Given the description of an element on the screen output the (x, y) to click on. 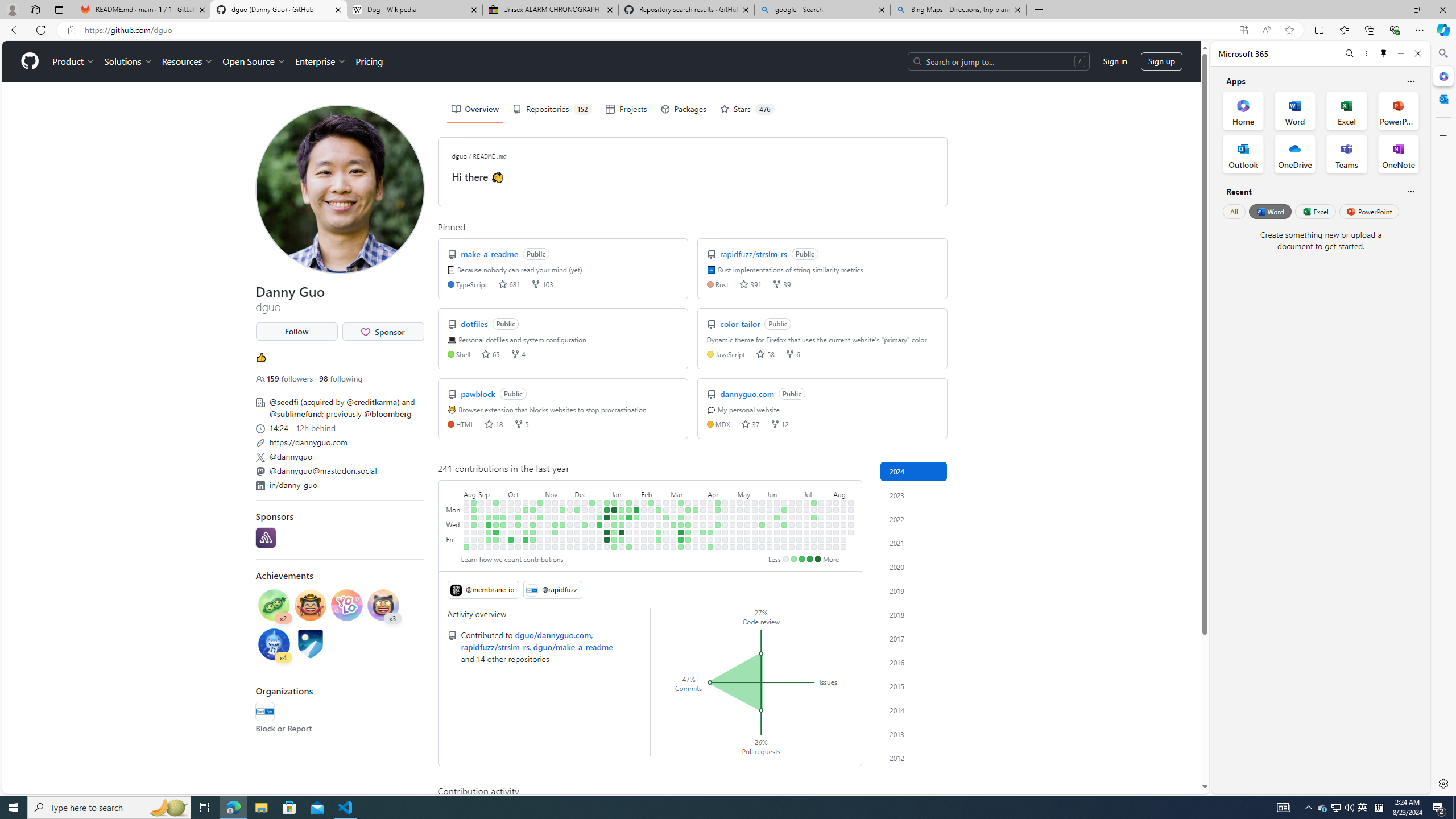
No contributions on July 6th. (799, 546)
No contributions on April 9th. (710, 517)
Learn how we count contributions (511, 558)
1 contribution on January 10th. (614, 524)
No contributions on February 5th. (643, 509)
No contributions on June 16th. (784, 502)
No contributions on October 28th. (532, 546)
No contributions on July 8th. (806, 509)
No contributions on July 24th. (821, 524)
No contributions on December 14th. (585, 531)
stars 65 (489, 353)
Achievements (283, 575)
1 contribution on March 16th. (681, 546)
98 following (340, 378)
4 contributions on March 15th. (681, 539)
